Given the description of an element on the screen output the (x, y) to click on. 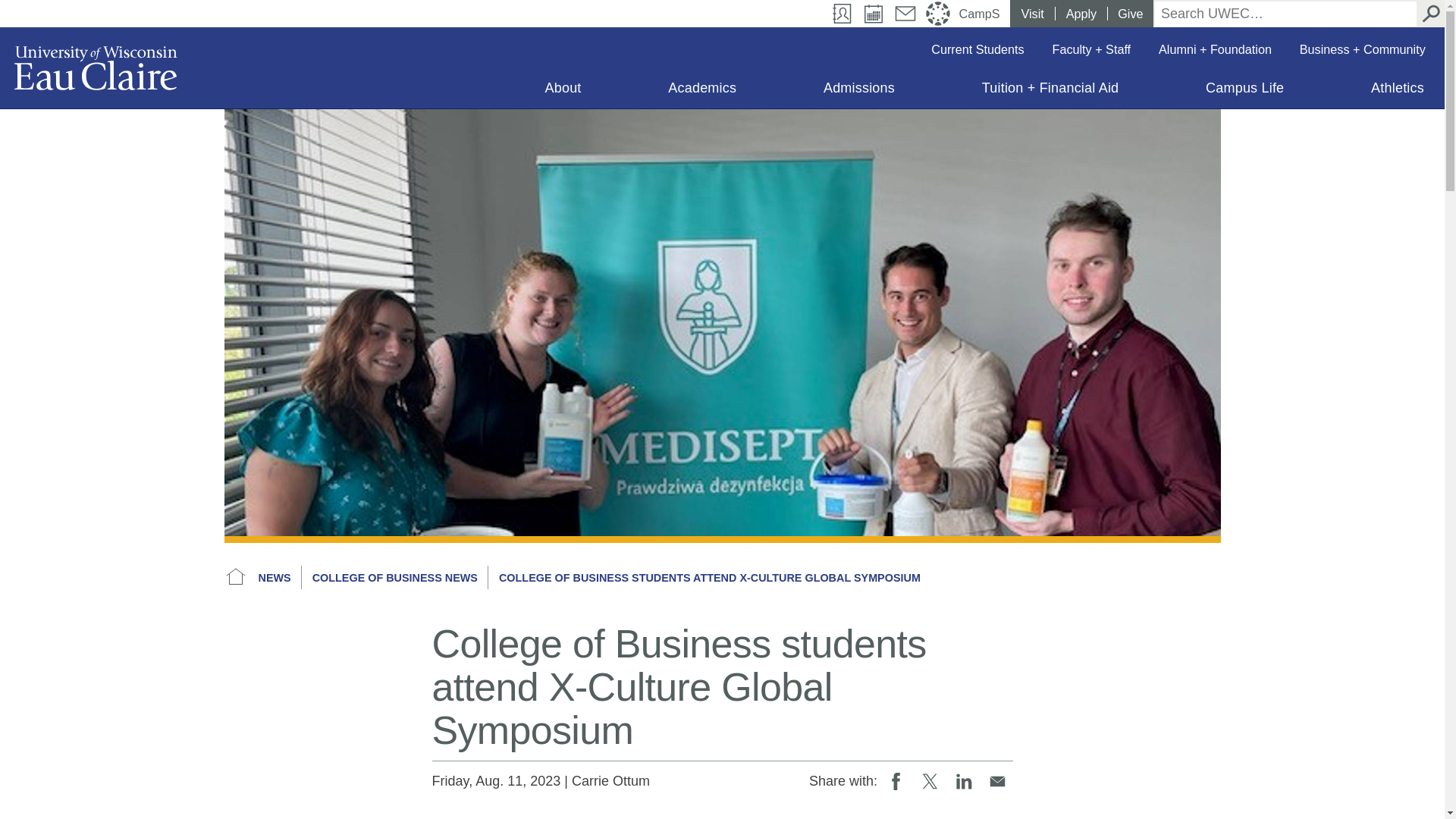
Directory (843, 13)
Webmail (905, 13)
Current Students (977, 48)
Give (1130, 13)
Webmail (905, 13)
University of Wisconsin-Eau Claire (95, 67)
Admissions (858, 91)
Canvas (938, 13)
CampS (981, 13)
Canvas (938, 13)
Share by Email (997, 780)
Share on Facebook (895, 780)
Directory (843, 13)
Apply (1080, 13)
Tweet on Twitter (929, 780)
